Given the description of an element on the screen output the (x, y) to click on. 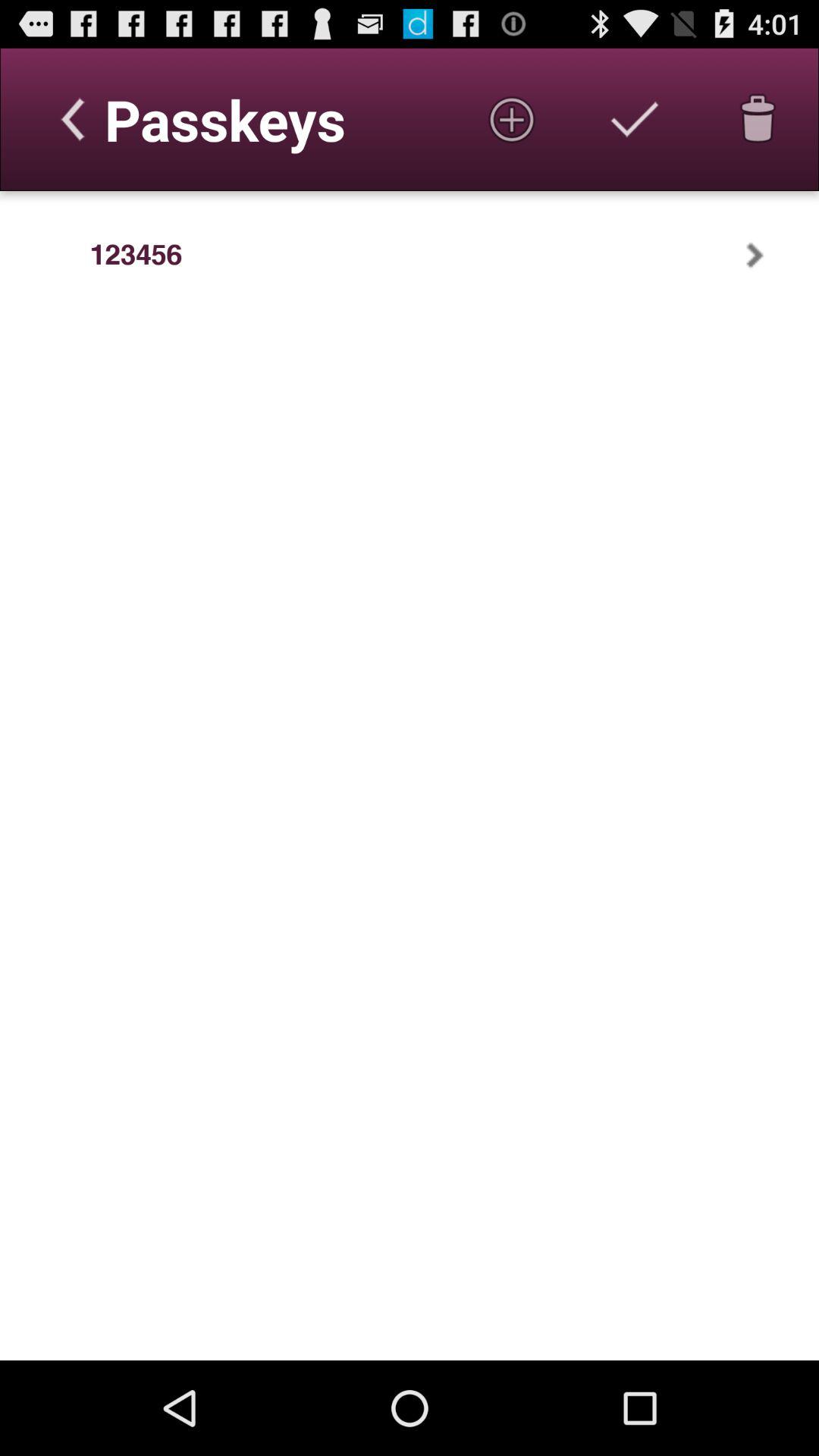
add passkey (511, 119)
